Given the description of an element on the screen output the (x, y) to click on. 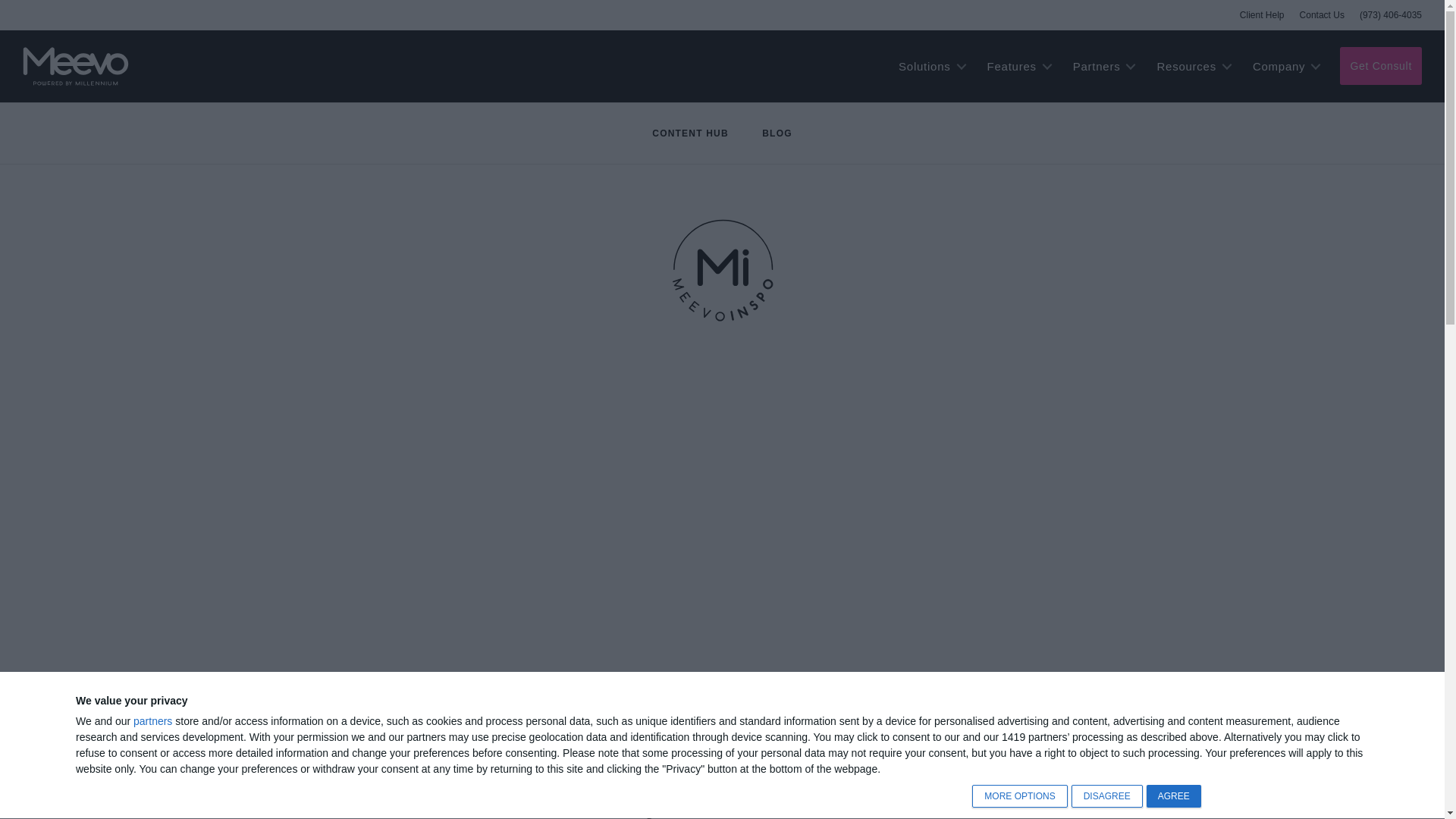
DISAGREE (1106, 795)
Solutions (931, 66)
MORE OPTIONS (1019, 795)
AGREE (1174, 795)
Contact Us (1321, 14)
partners (152, 720)
Features (1018, 66)
Client Help (1262, 14)
